Given the description of an element on the screen output the (x, y) to click on. 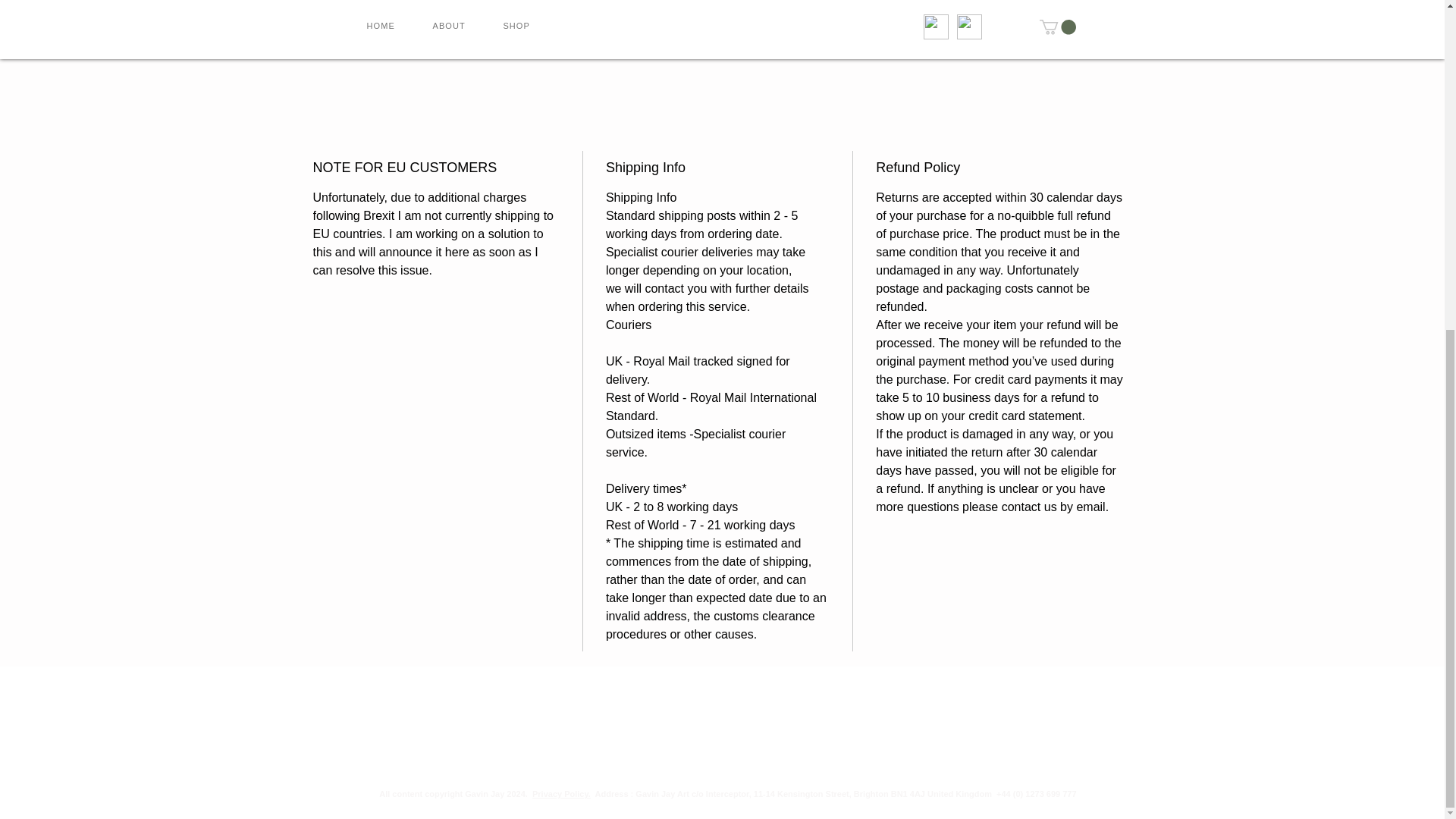
Privacy Policy. (561, 793)
